Given the description of an element on the screen output the (x, y) to click on. 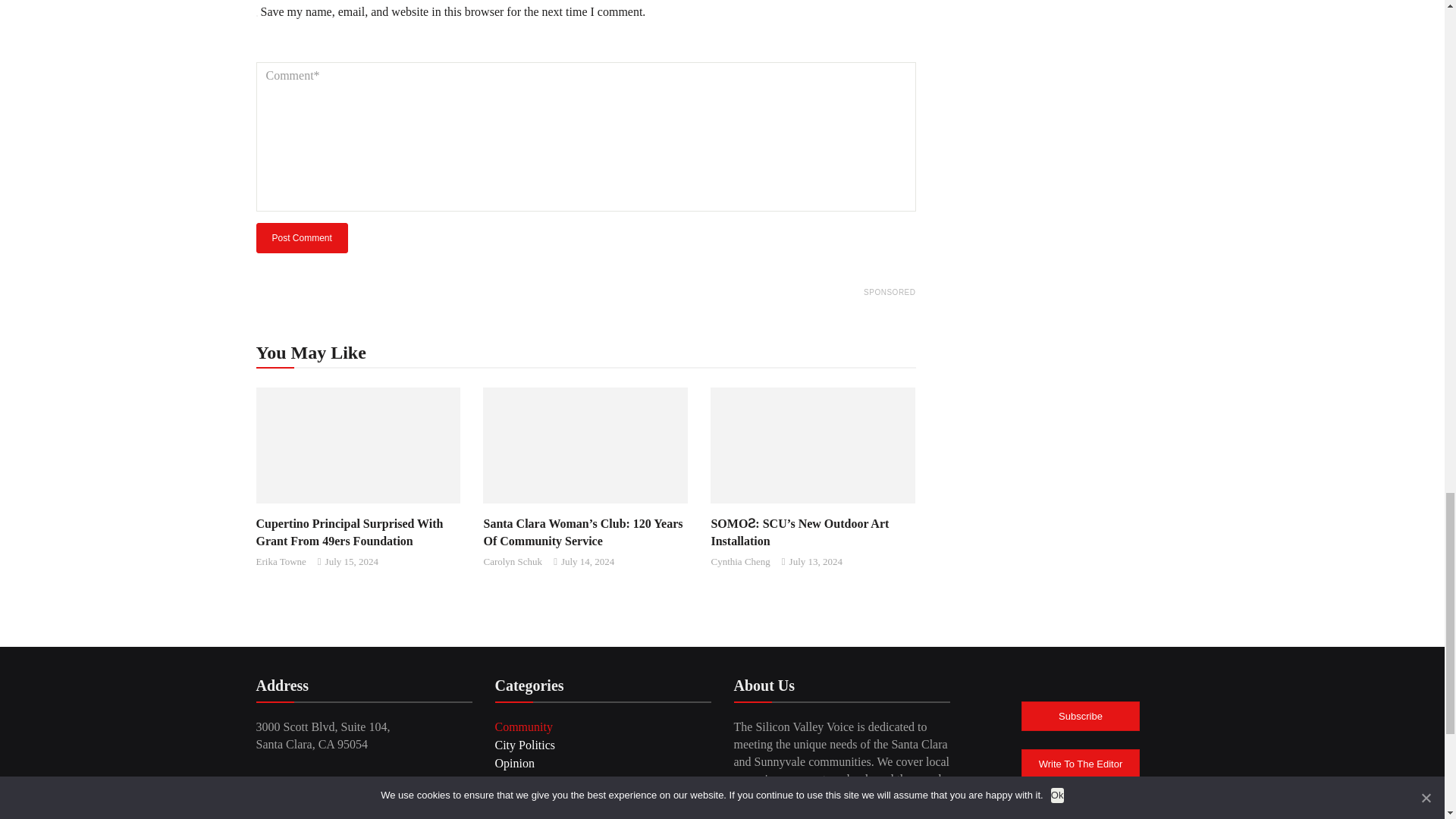
Post Comment (301, 237)
